Given the description of an element on the screen output the (x, y) to click on. 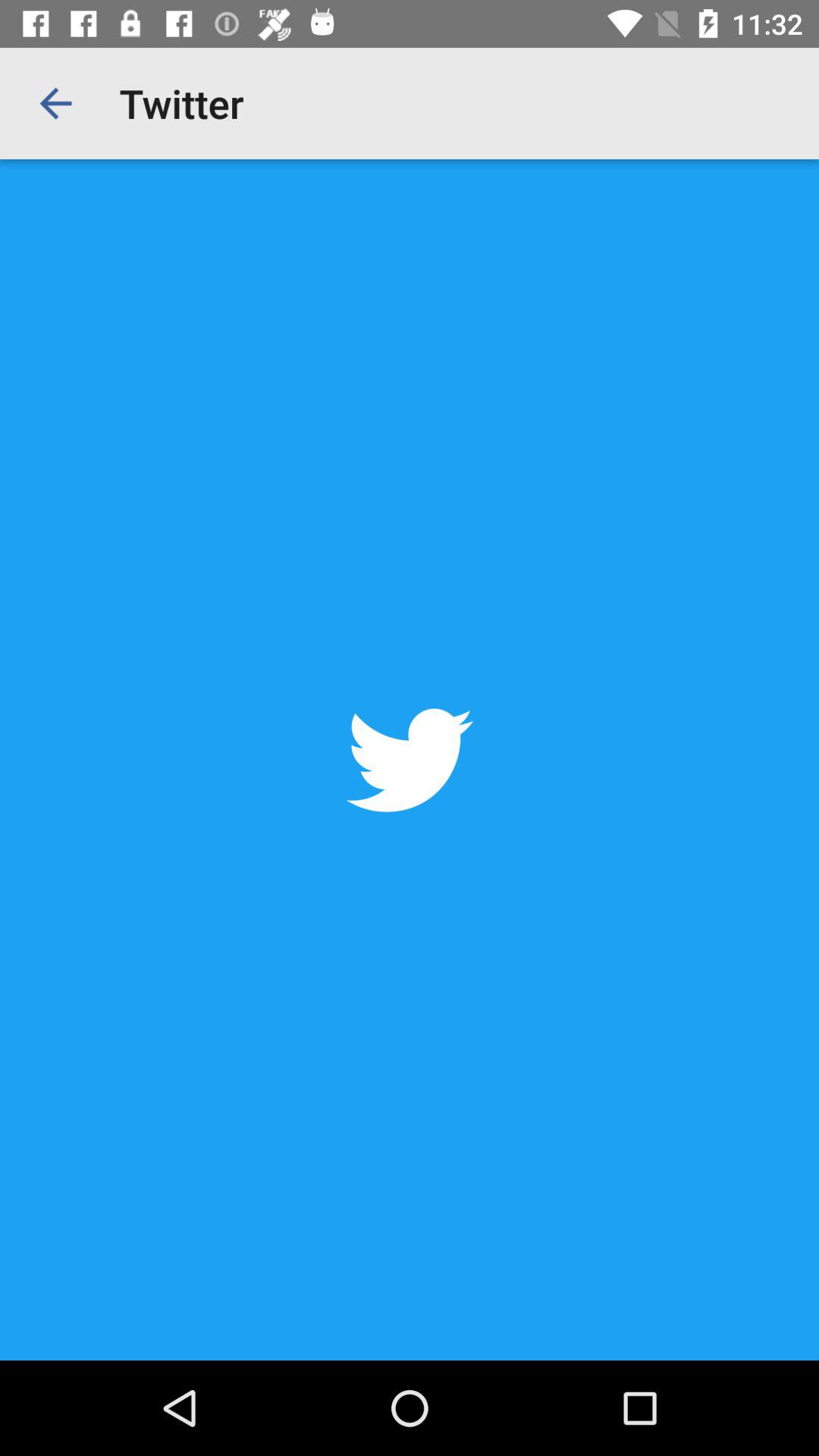
tap the item at the center (409, 759)
